Given the description of an element on the screen output the (x, y) to click on. 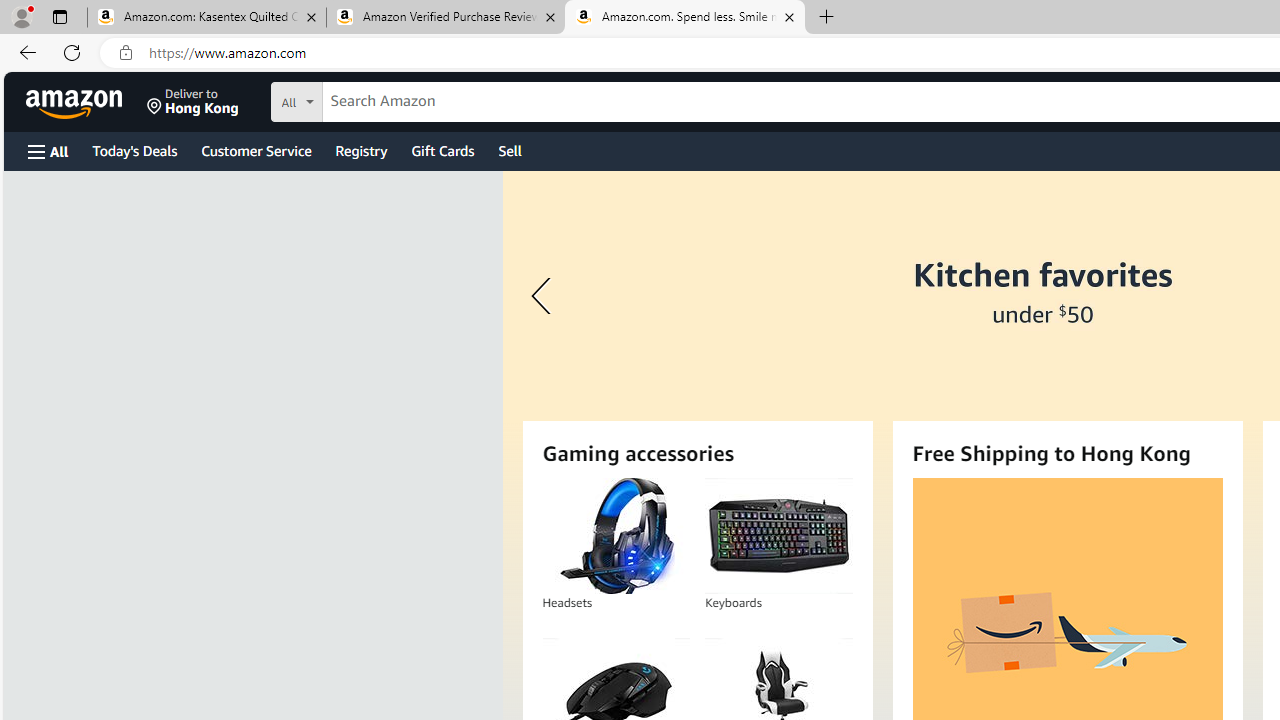
Customer Service (256, 150)
Skip to main content (86, 100)
Gift Cards (442, 150)
Amazon.com. Spend less. Smile more. (684, 17)
Headsets (616, 536)
Headsets (615, 536)
Registry (360, 150)
Amazon (76, 101)
Amazon Verified Purchase Reviews - Amazon Customer Service (445, 17)
